Given the description of an element on the screen output the (x, y) to click on. 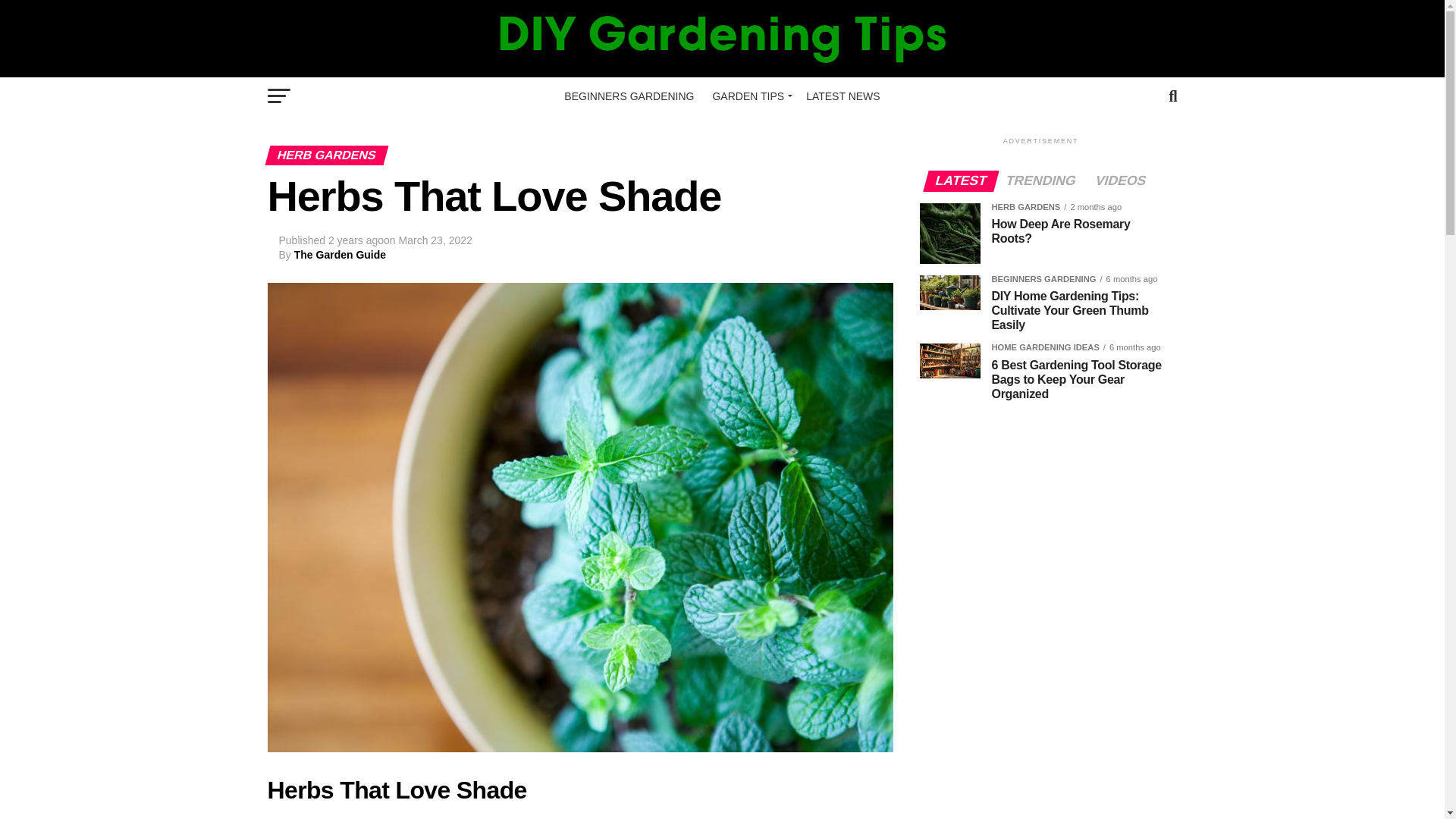
BEGINNERS GARDENING (628, 95)
GARDEN TIPS (749, 95)
